Given the description of an element on the screen output the (x, y) to click on. 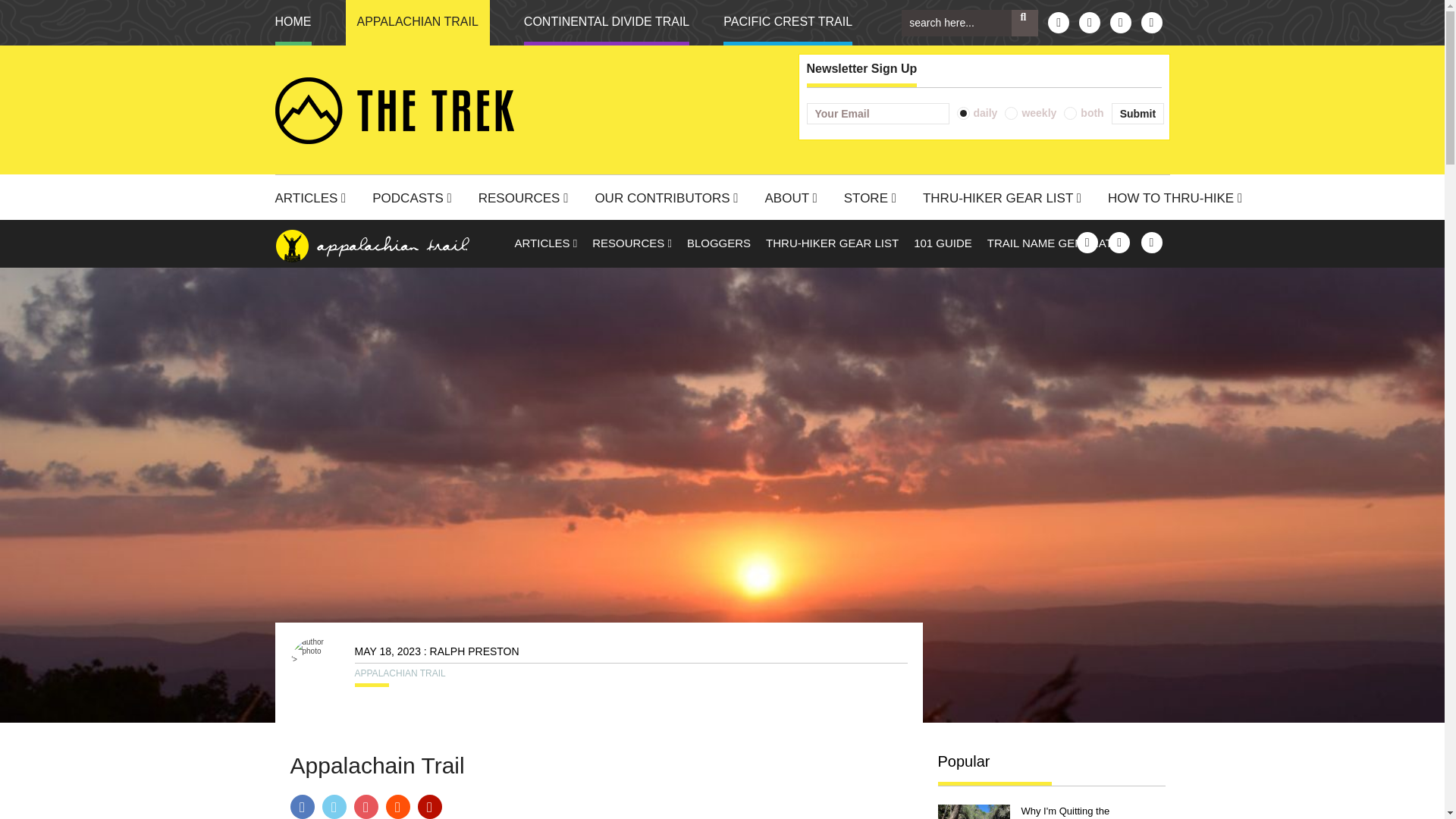
Submit (1137, 113)
Sign Up (1137, 113)
PODCASTS (417, 200)
CONTINENTAL DIVIDE TRAIL (606, 22)
PACIFIC CREST TRAIL (787, 22)
APPALACHIAN TRAIL (417, 22)
ARTICLES (315, 200)
RESOURCES (529, 200)
